Given the description of an element on the screen output the (x, y) to click on. 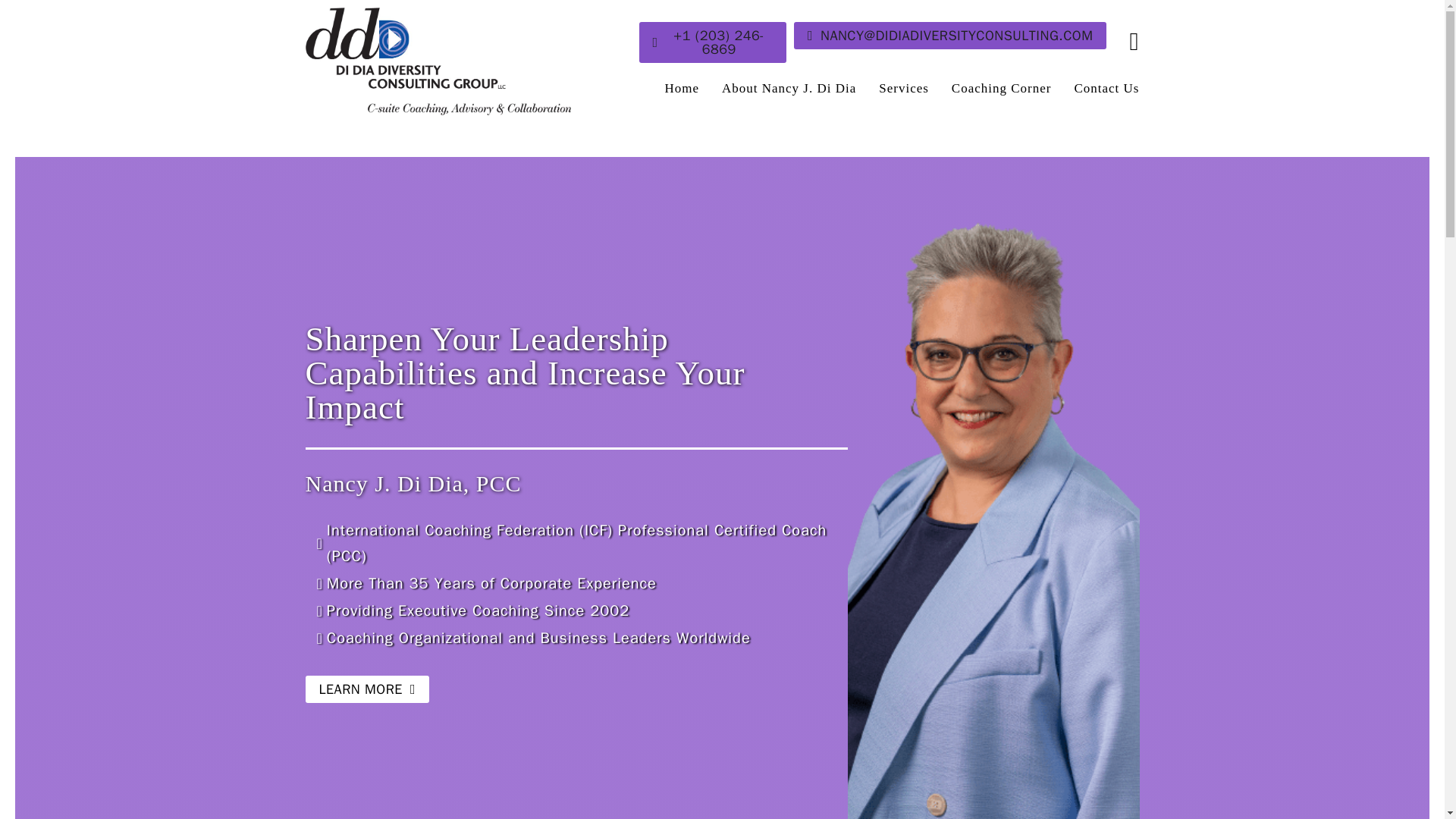
Services (903, 88)
Contact Us (1106, 88)
Coaching Corner (1001, 88)
About Nancy J. Di Dia (789, 88)
Home (680, 88)
LEARN MORE (366, 688)
